Given the description of an element on the screen output the (x, y) to click on. 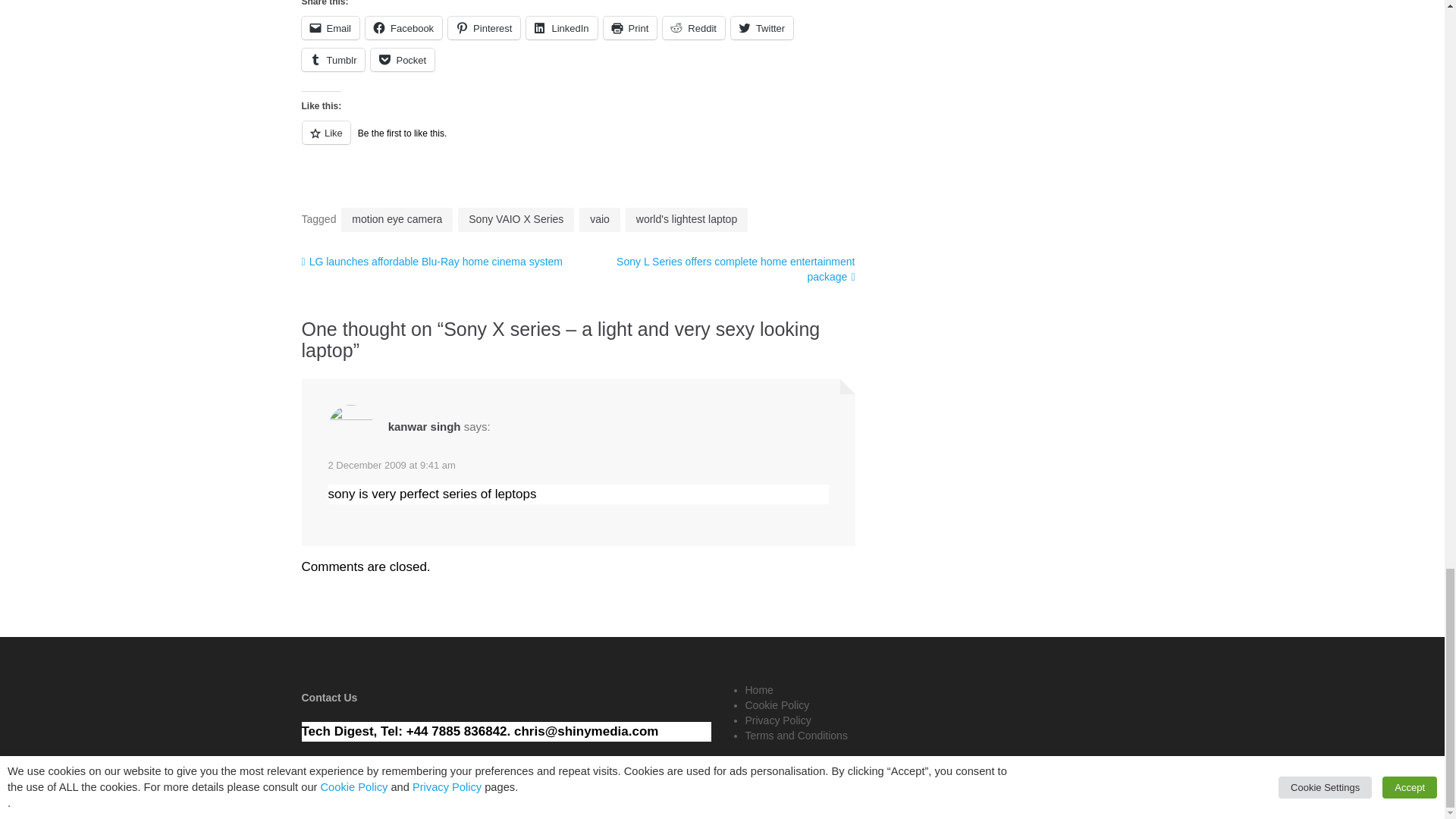
Click to email a link to a friend (330, 27)
Click to share on Facebook (403, 27)
Click to share on Pinterest (483, 27)
Click to print (631, 27)
Click to share on Reddit (693, 27)
Click to share on LinkedIn (560, 27)
